Given the description of an element on the screen output the (x, y) to click on. 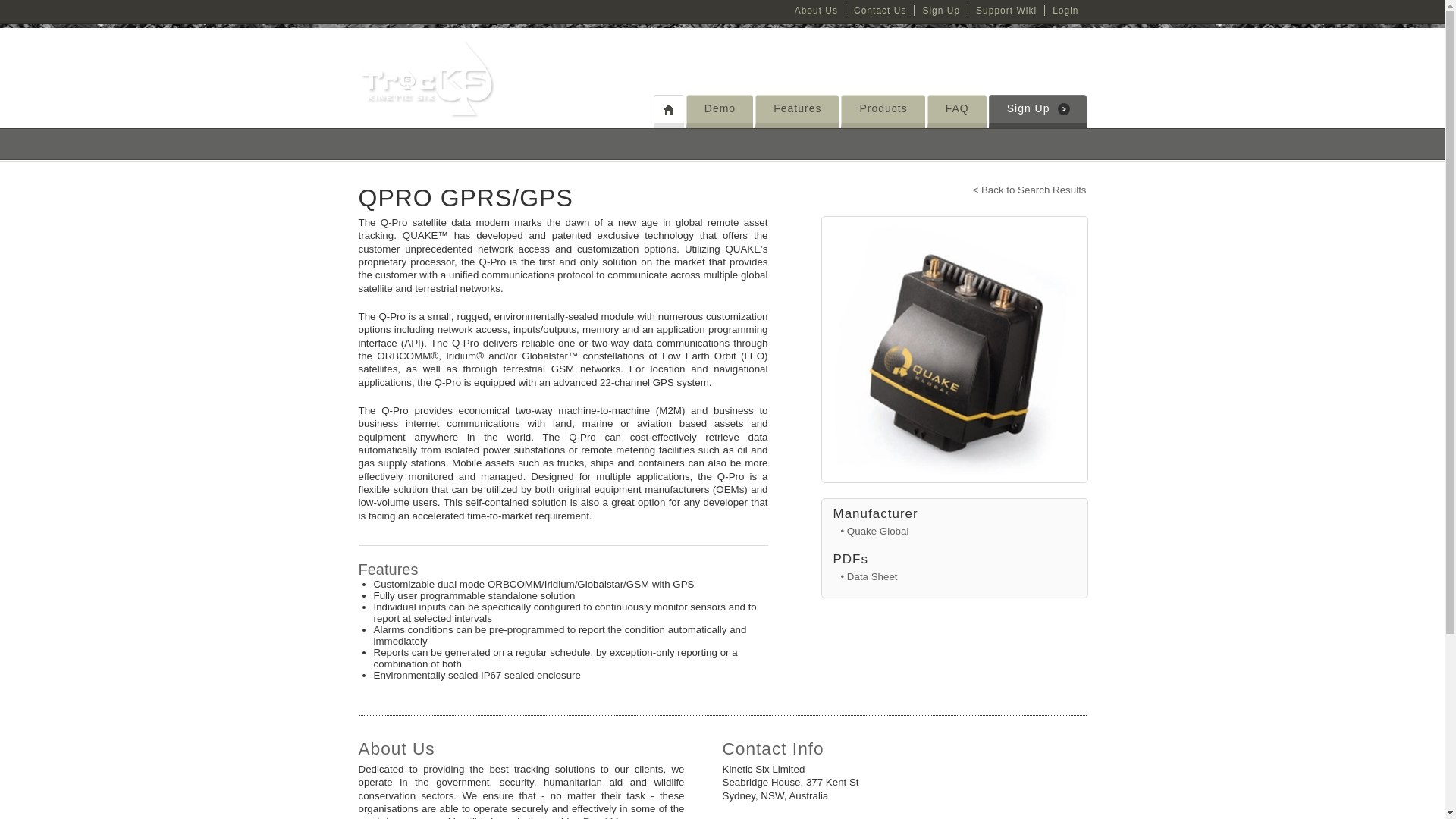
Sign Up (941, 9)
Contact Us (879, 9)
About Us (816, 9)
Sign Up (1028, 108)
Login (1064, 9)
Support Wiki (1005, 9)
FAQ (957, 108)
Demo (719, 108)
Products (882, 108)
Features (796, 108)
